Given the description of an element on the screen output the (x, y) to click on. 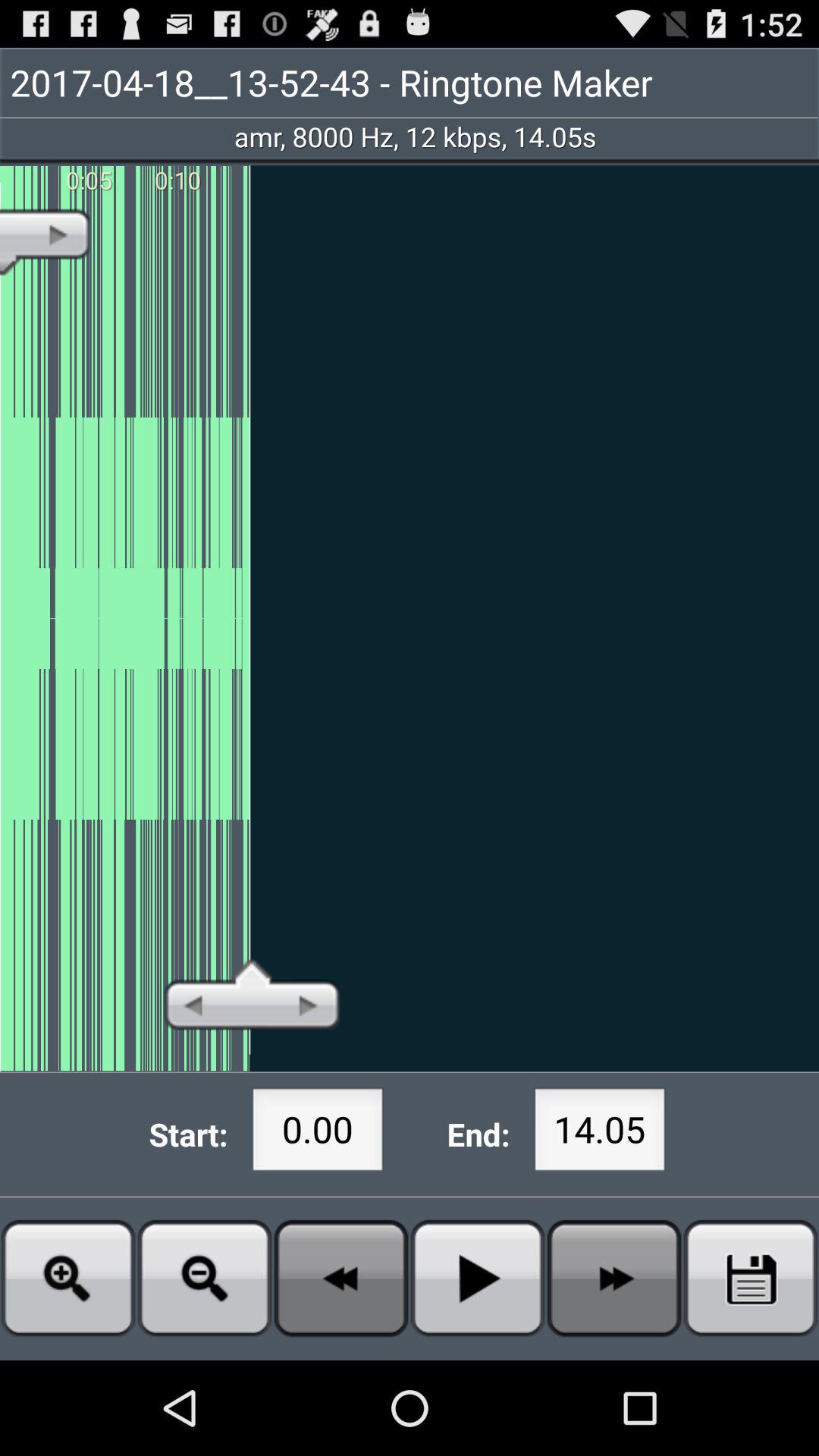
rewinds track to a given interval (341, 1278)
